Given the description of an element on the screen output the (x, y) to click on. 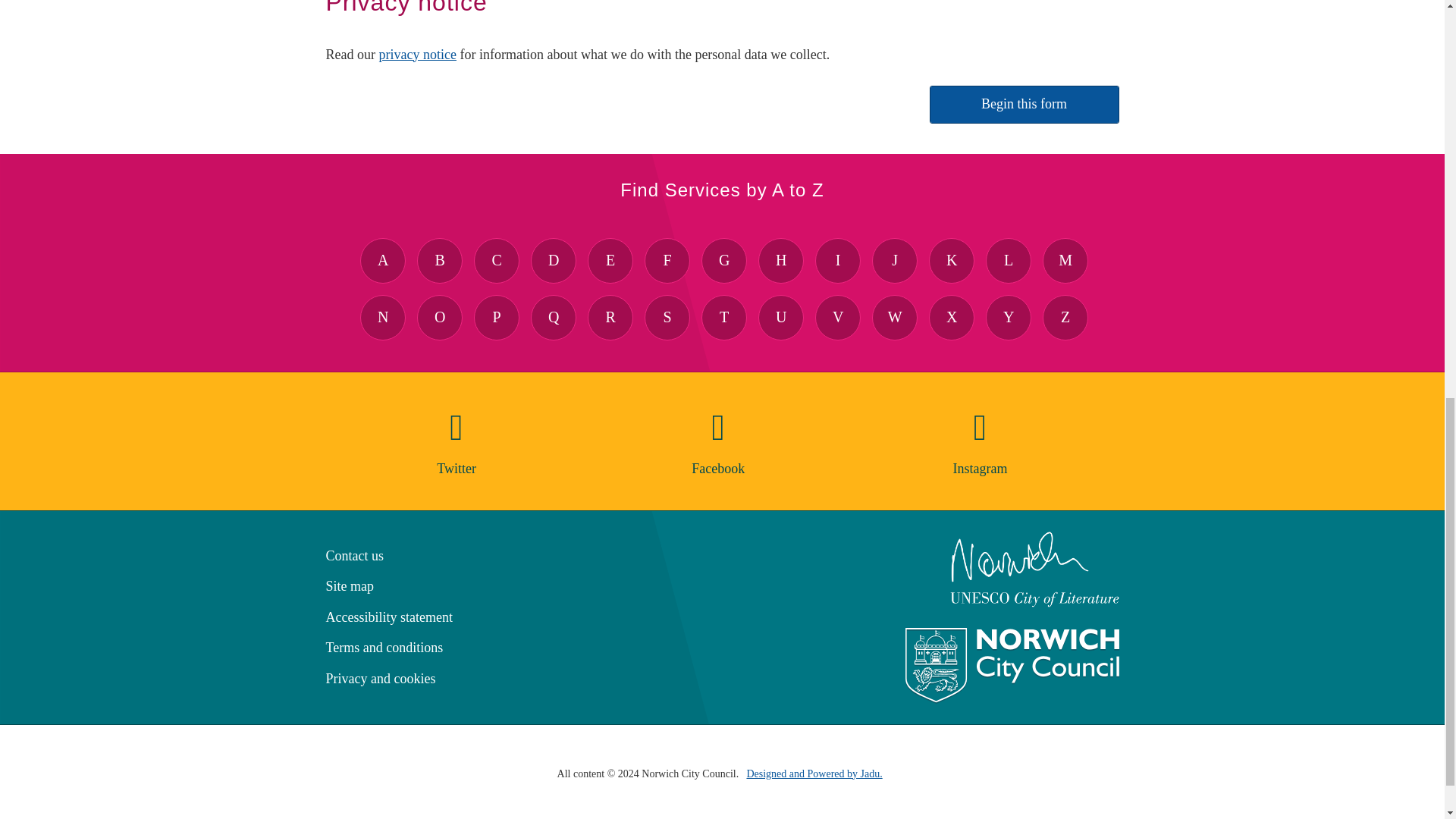
F (667, 260)
Contact us (355, 555)
O (439, 317)
S (667, 317)
E (610, 260)
G (723, 260)
privacy notice (416, 54)
R (610, 317)
A (382, 260)
Begin this form (1024, 104)
B (439, 260)
J (894, 260)
T (723, 317)
P (496, 317)
H (780, 260)
